Given the description of an element on the screen output the (x, y) to click on. 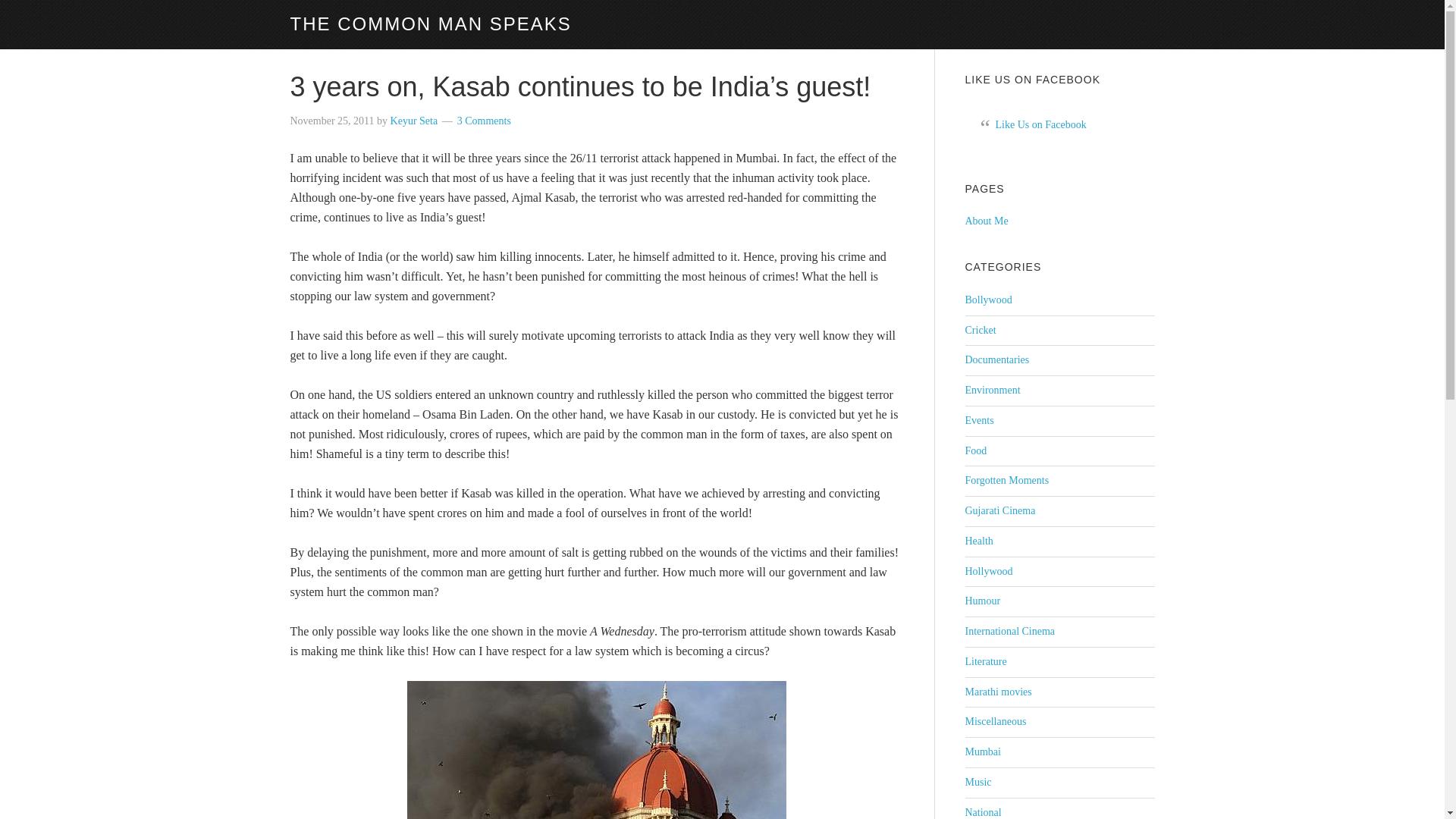
Environment (991, 389)
Humour (981, 600)
Events (977, 419)
Literature (984, 661)
Forgotten Moments (1005, 480)
About Me (985, 220)
National (982, 812)
LIKE US ON FACEBOOK (1031, 79)
Health (977, 541)
Keyur Seta (414, 120)
